Given the description of an element on the screen output the (x, y) to click on. 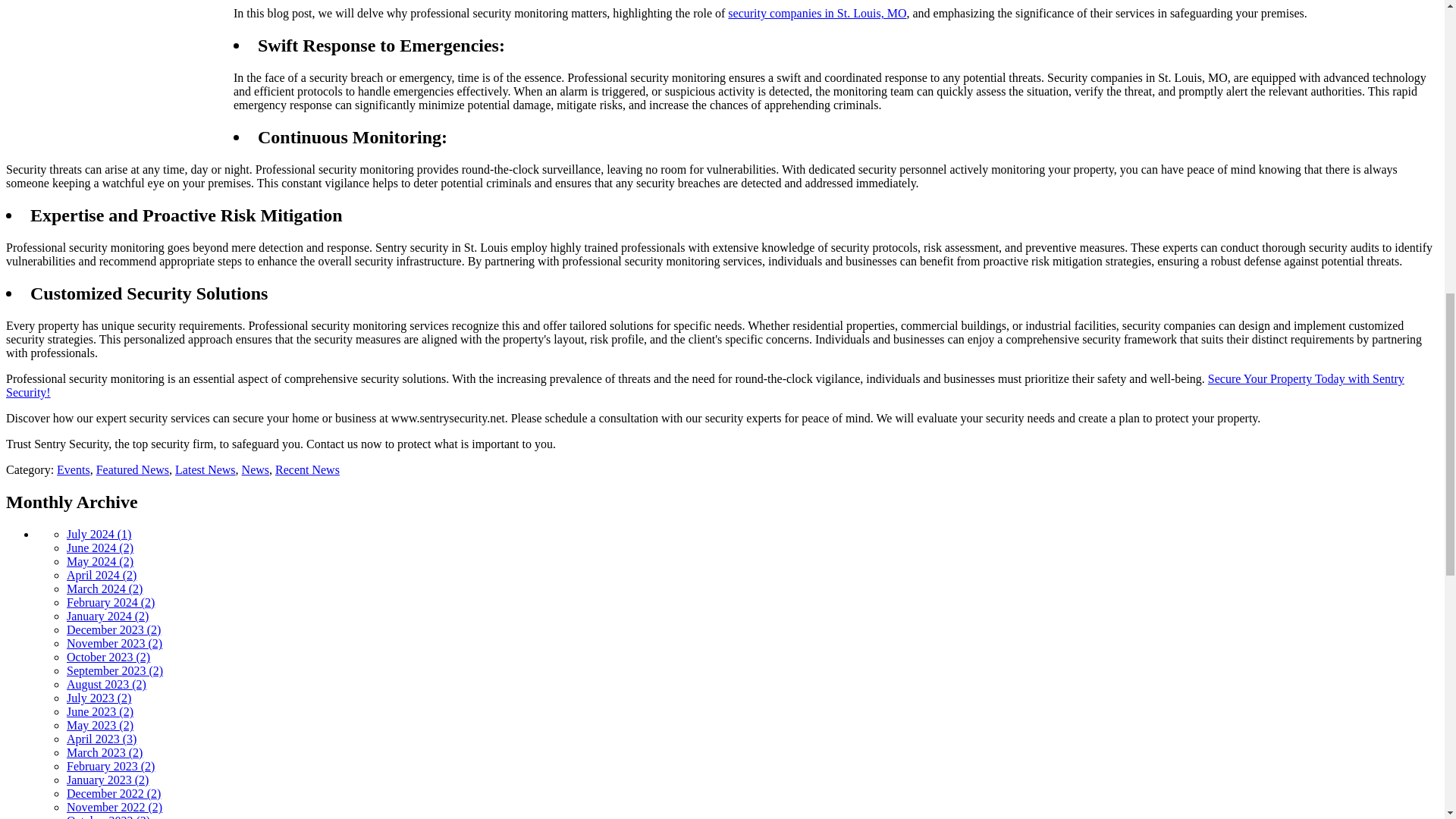
Recent News (307, 469)
Latest News (204, 469)
security companies in St. Louis, MO (816, 12)
Secure Your Property Today with Sentry Security! (705, 385)
Events (73, 469)
News (255, 469)
Featured News (132, 469)
